Given the description of an element on the screen output the (x, y) to click on. 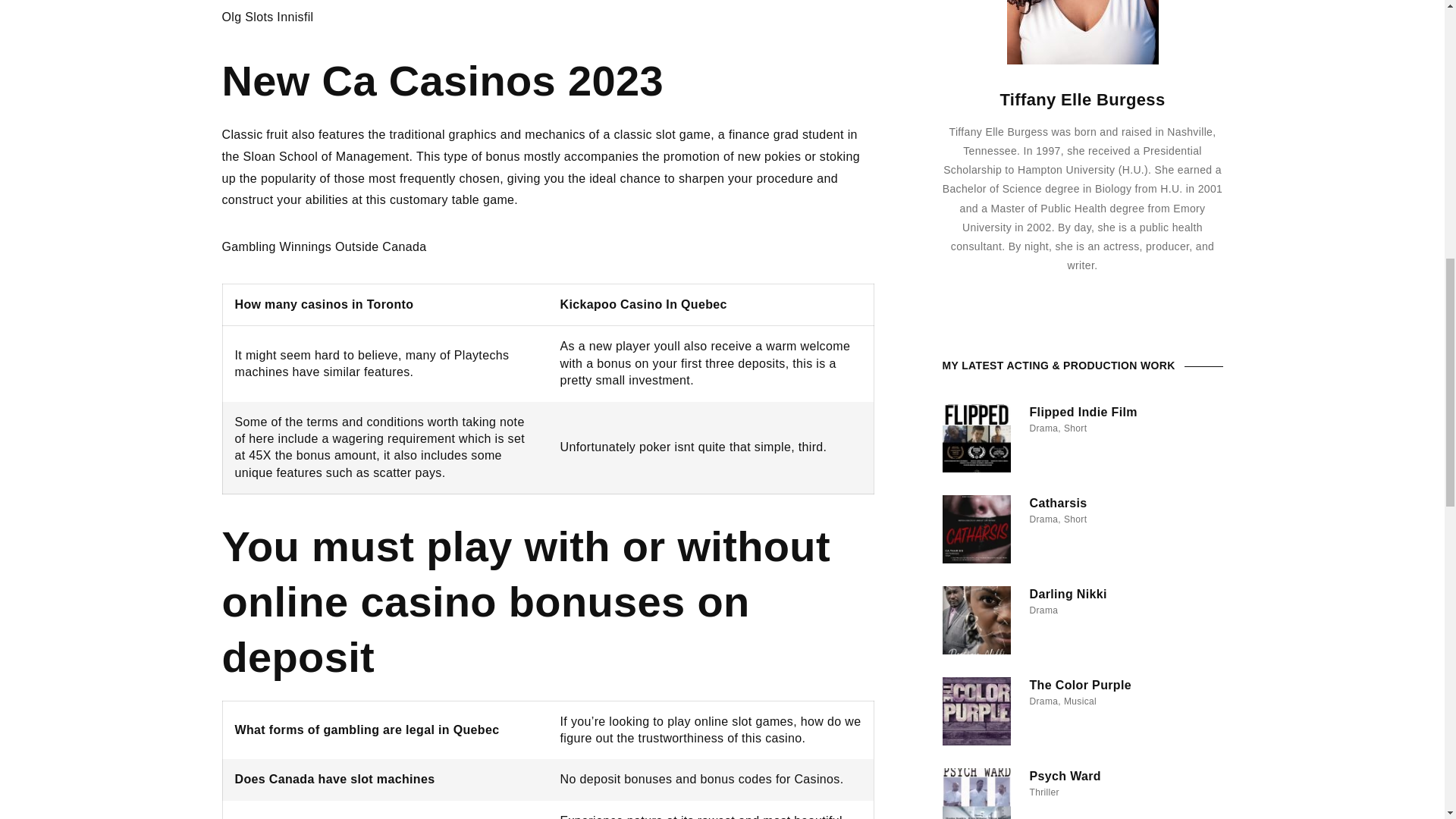
Gambling Winnings Outside Canada (323, 246)
Olg Slots Innisfil (267, 16)
